Given the description of an element on the screen output the (x, y) to click on. 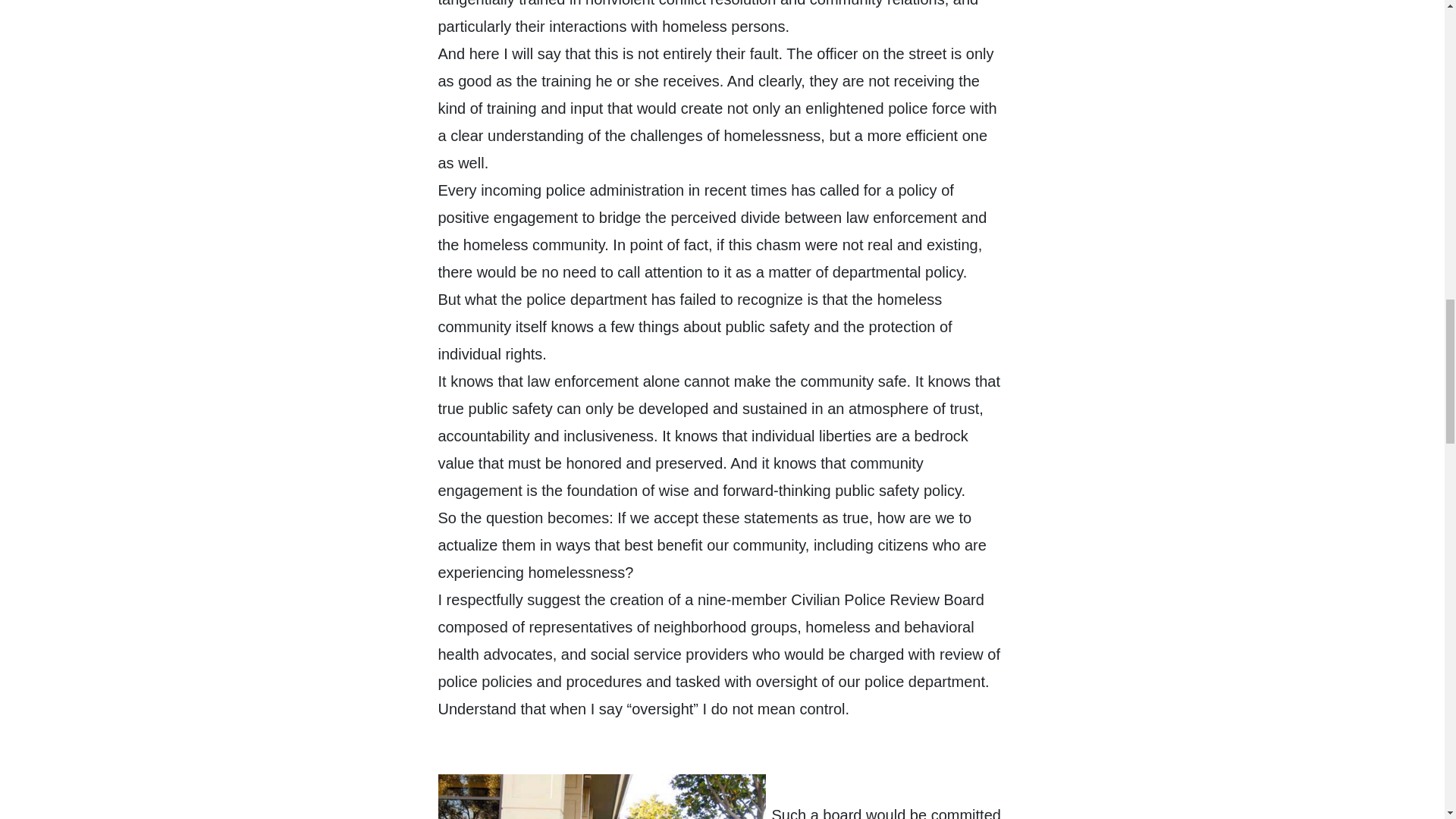
Cops (601, 796)
